Given the description of an element on the screen output the (x, y) to click on. 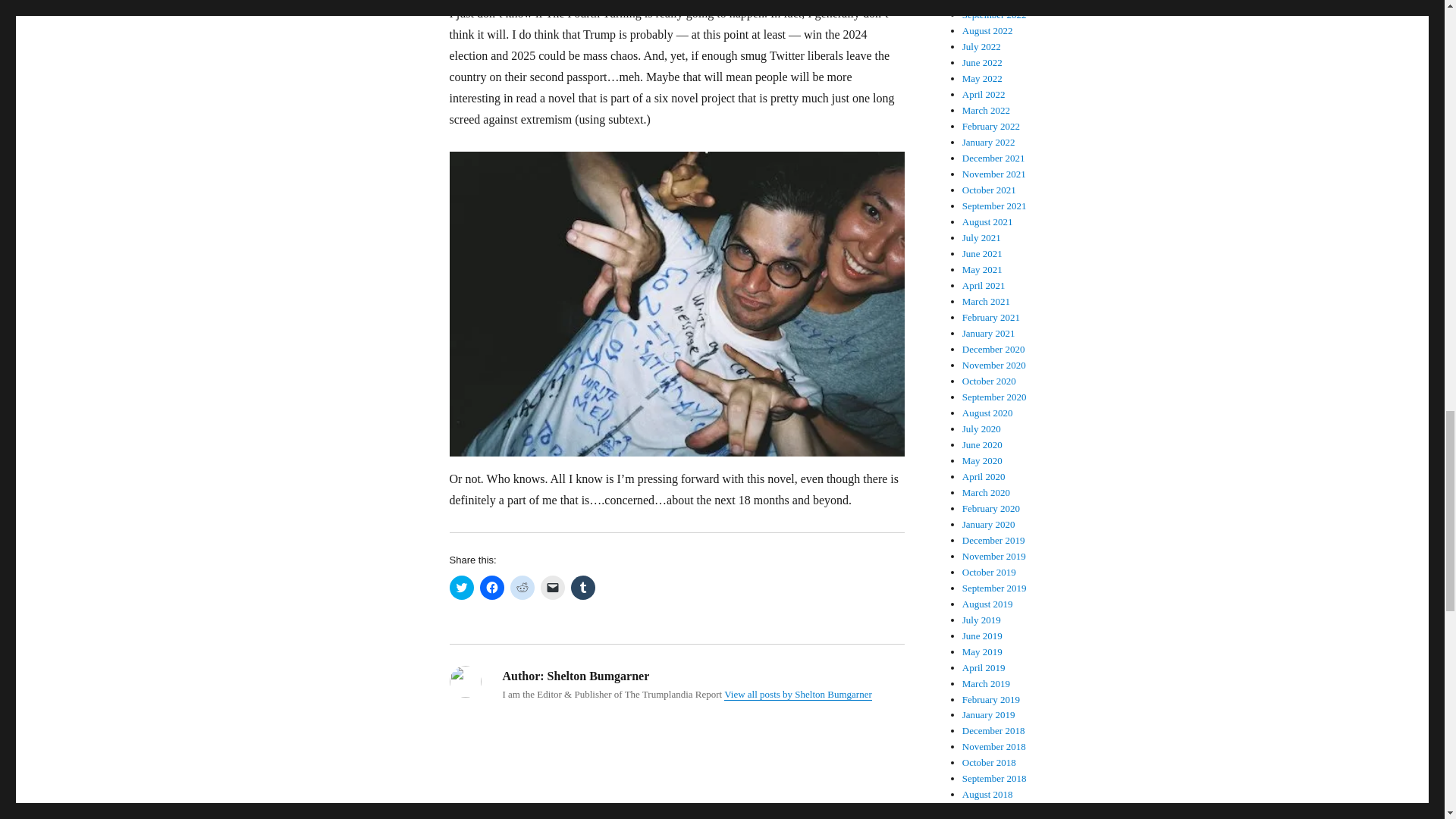
Click to share on Tumblr (582, 587)
Click to share on Twitter (460, 587)
Click to share on Reddit (521, 587)
Click to email a link to a friend (552, 587)
Click to share on Facebook (491, 587)
View all posts by Shelton Bumgarner (797, 694)
